Given the description of an element on the screen output the (x, y) to click on. 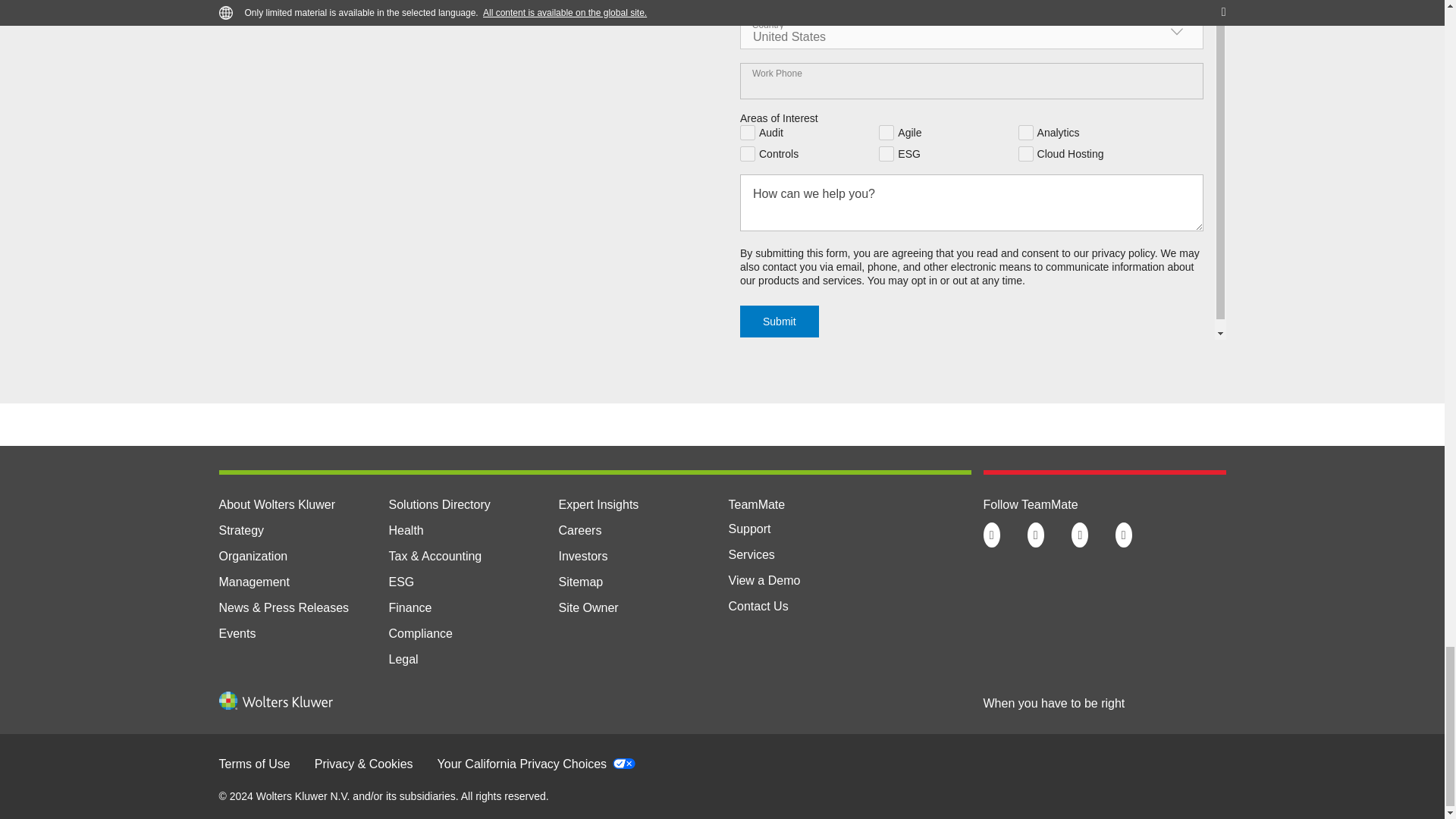
WK Logo (274, 700)
Newsroom (283, 607)
Site Owner (587, 607)
ESG (400, 581)
Wolters Kluwer Logo (274, 705)
